Given the description of an element on the screen output the (x, y) to click on. 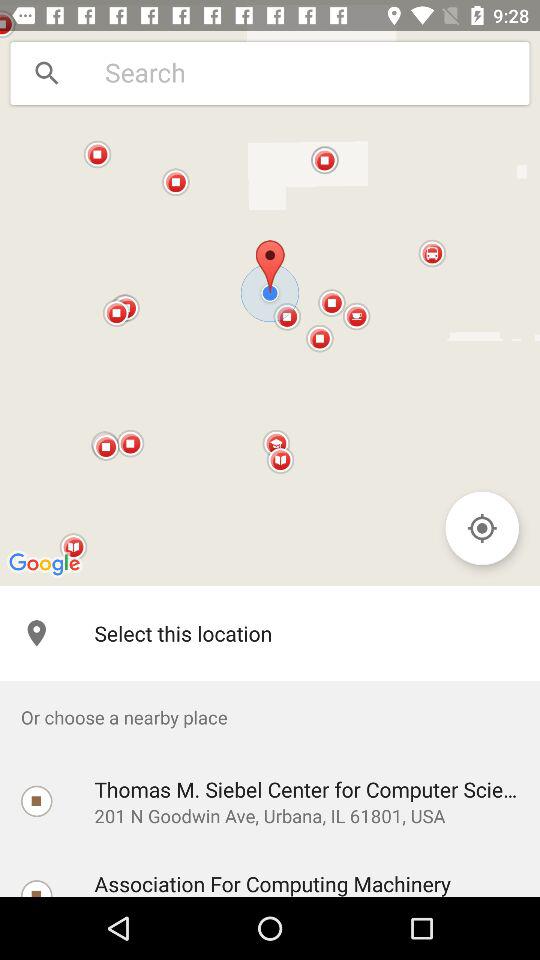
turn on the item on the right (482, 528)
